Given the description of an element on the screen output the (x, y) to click on. 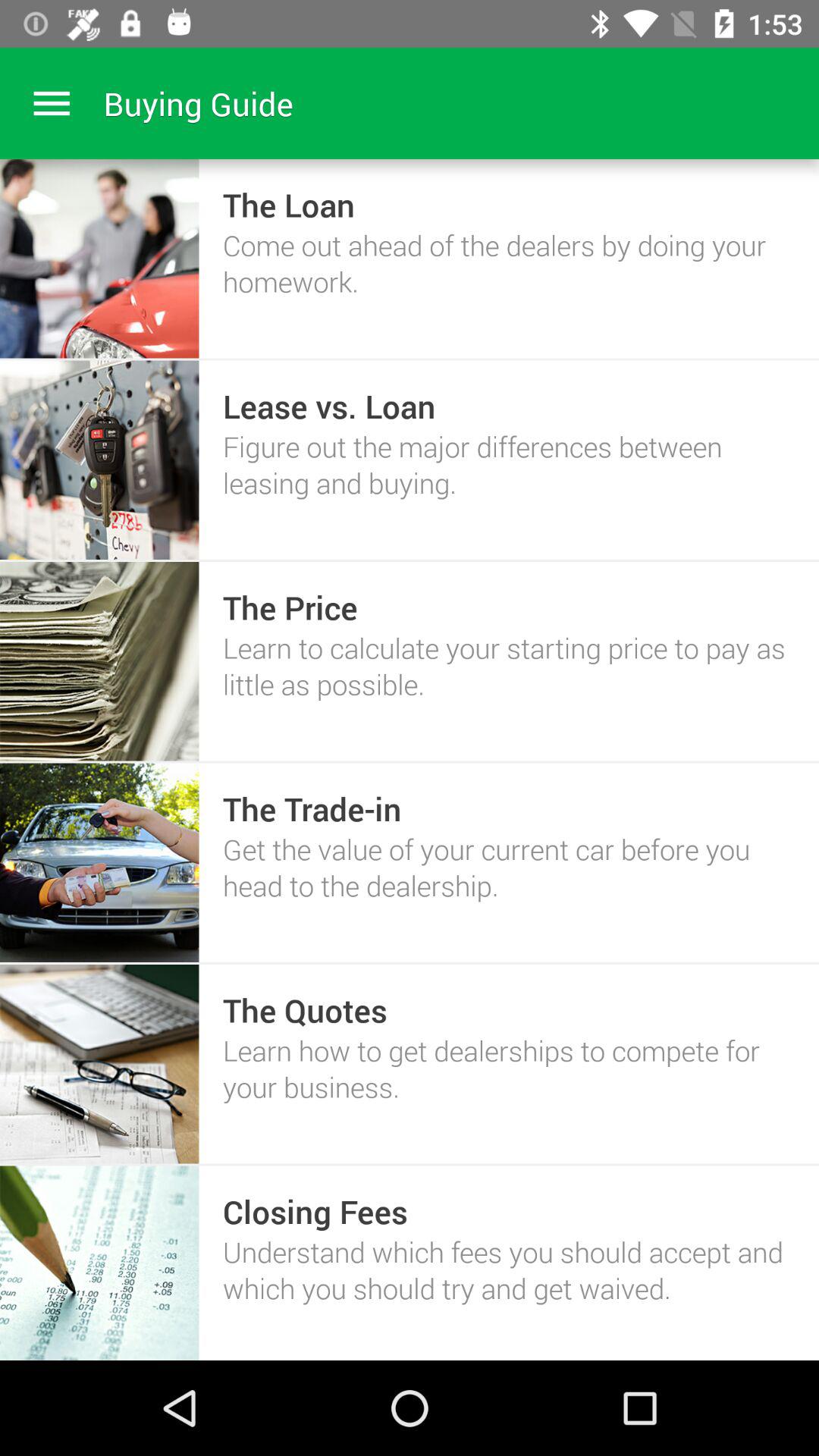
click item below the the trade-in (508, 867)
